Given the description of an element on the screen output the (x, y) to click on. 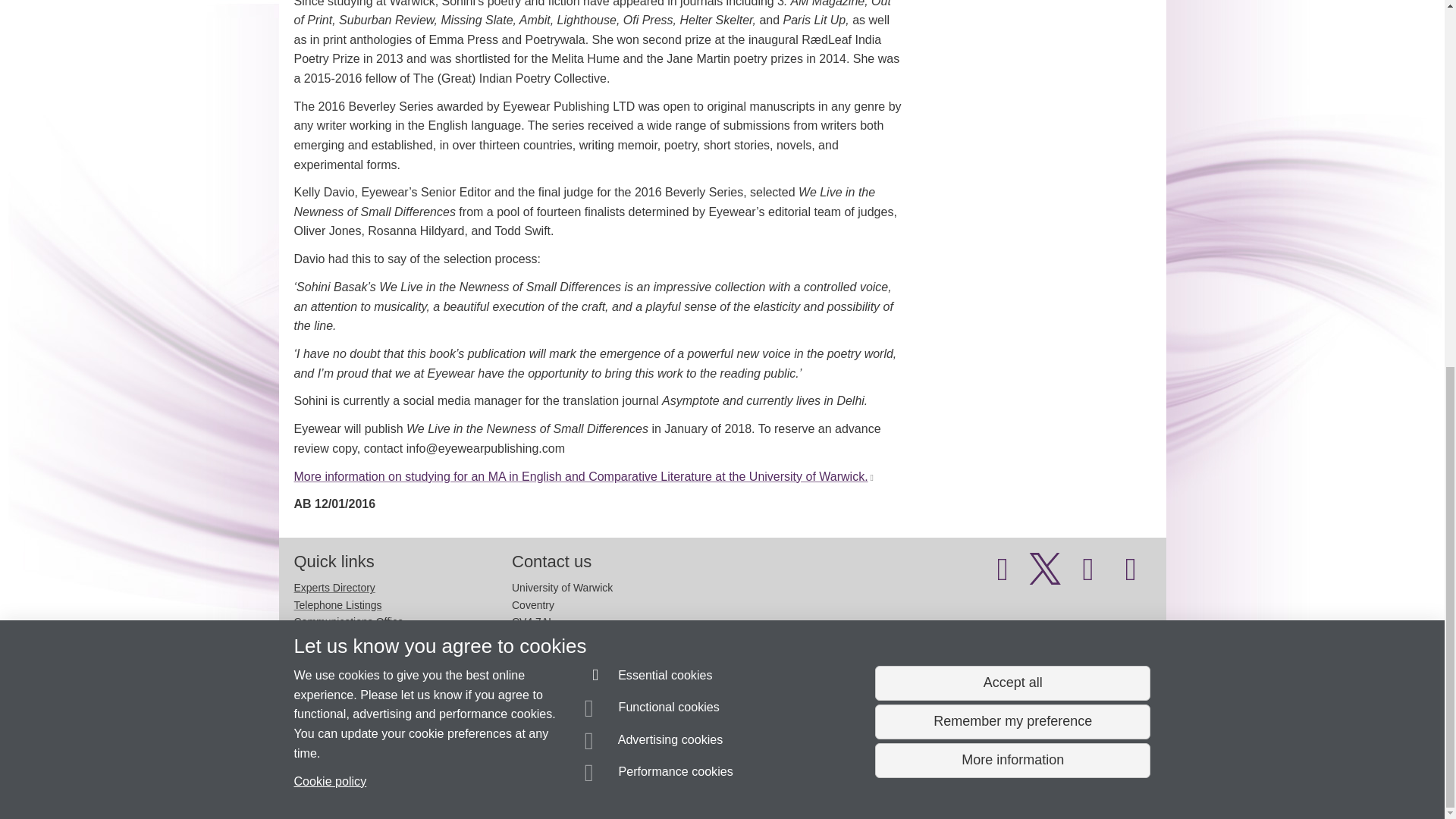
Copyright Statement (514, 779)
Essential cookies are always on (649, 15)
More information about SiteBuilder (365, 779)
Information about cookies (467, 779)
University of Warwick on YouTube (1088, 576)
University of Warwick on Facebook (1002, 576)
Terms of use (708, 779)
University of Warwick on Foursquare (1130, 576)
University of Warwick on Twitter (1045, 576)
Privacy notice (673, 779)
